Given the description of an element on the screen output the (x, y) to click on. 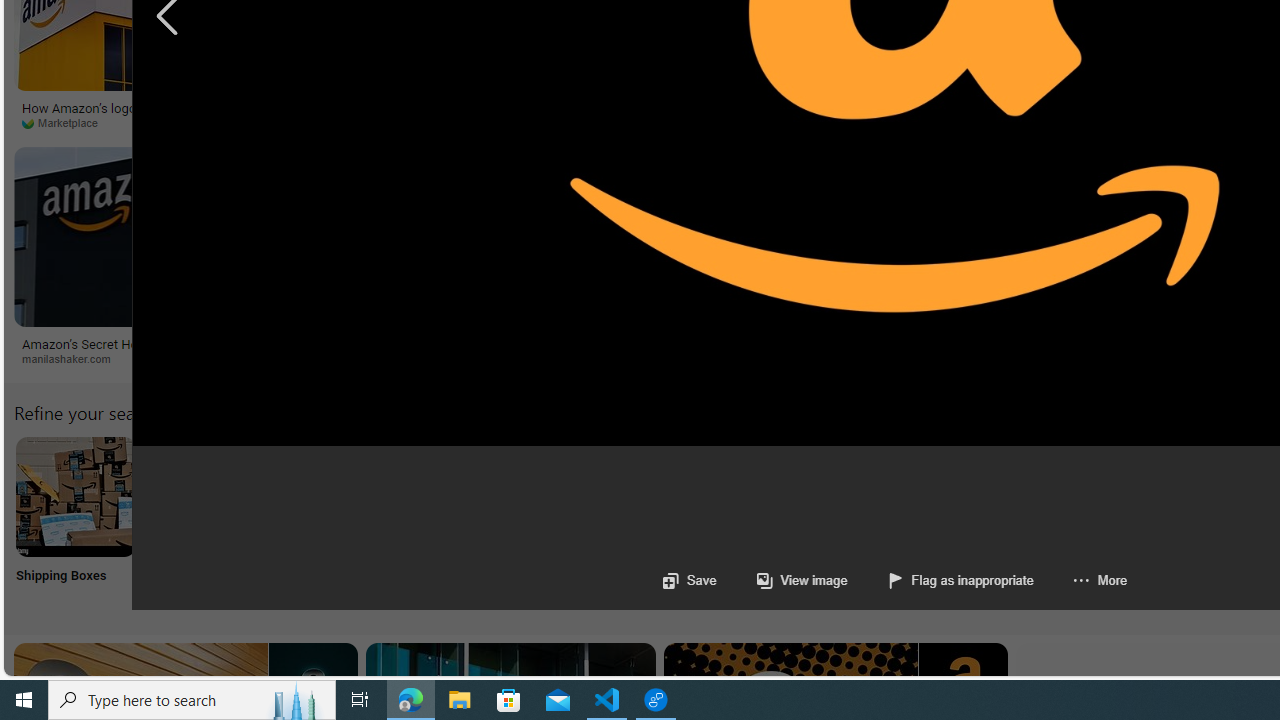
Amazon Log into My Account Log into My Account (472, 521)
cordcuttersnews.com (503, 359)
Image result for amazon (820, 236)
Amazon (701, 343)
Amazon Shipping Boxes Shipping Boxes (75, 521)
Amazon Wish List (999, 496)
Log into My Account (472, 521)
Shipping Boxes (74, 521)
3d illustration of amazon logo 18779928 PNG (1015, 114)
